Given the description of an element on the screen output the (x, y) to click on. 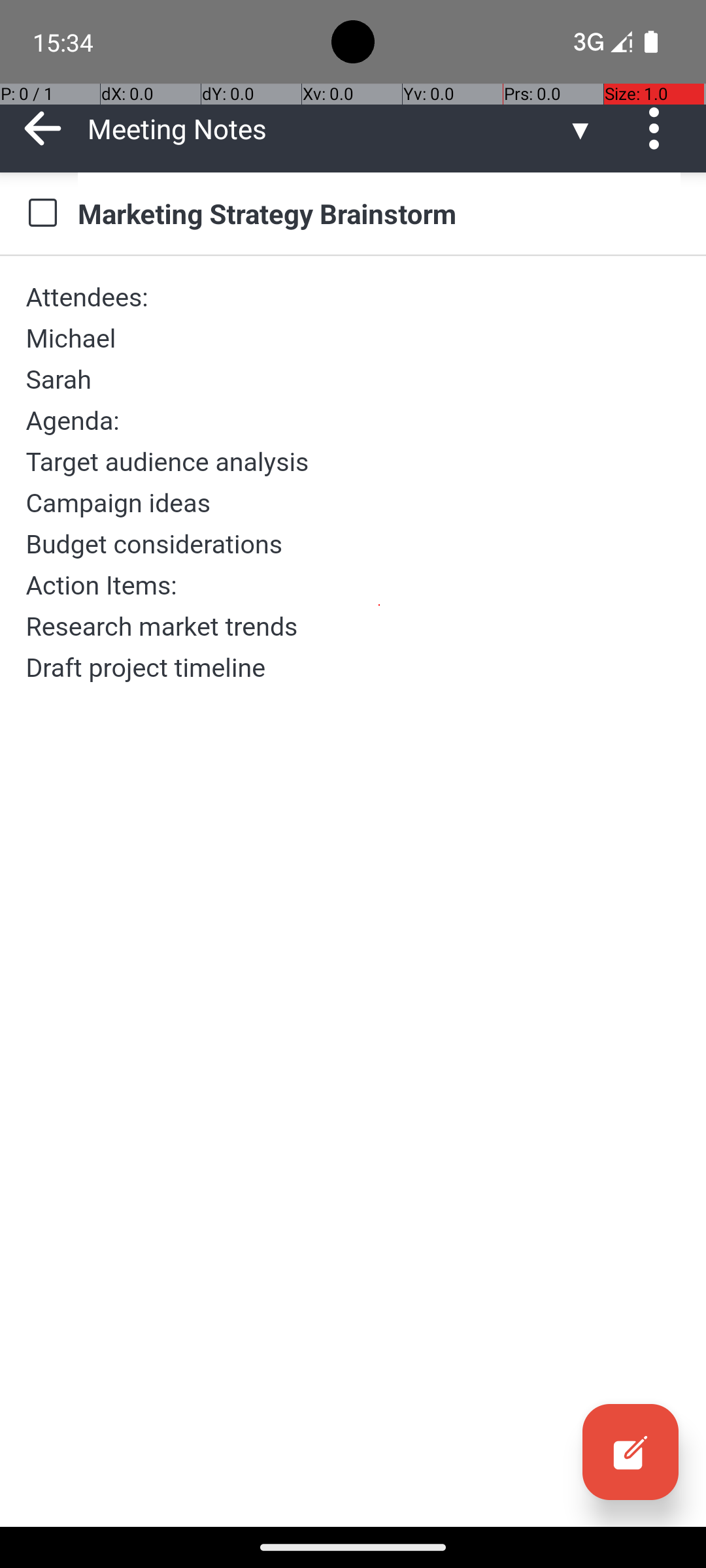
Attendees:
Michael
Sarah
Agenda:
Target audience analysis
Campaign ideas
Budget considerations
Action Items:
Research market trends
Draft project timeline Element type: android.widget.TextView (352, 481)
